Given the description of an element on the screen output the (x, y) to click on. 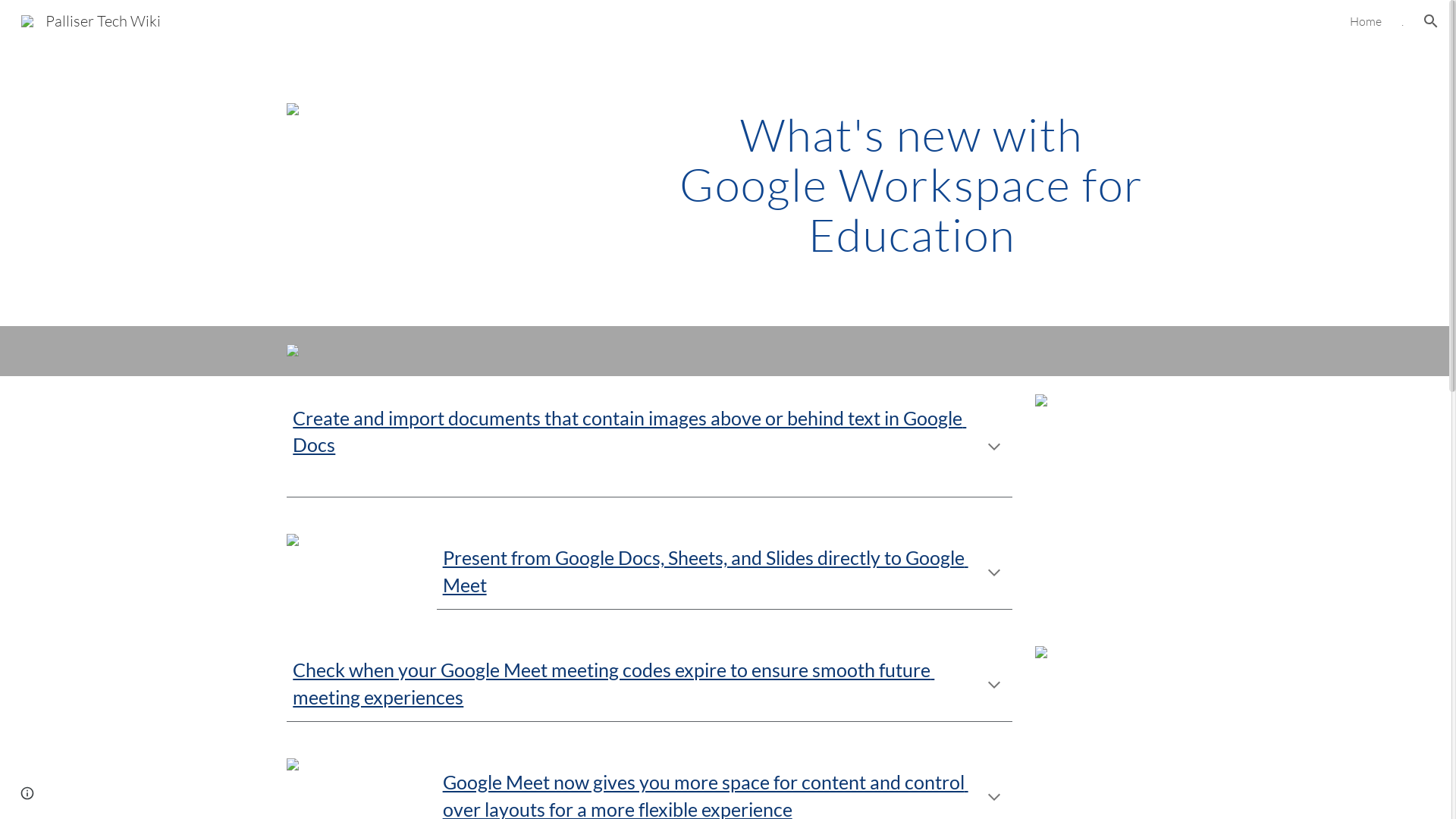
. Element type: text (1402, 20)
Palliser Tech Wiki Element type: text (90, 18)
Home Element type: text (1365, 20)
